Given the description of an element on the screen output the (x, y) to click on. 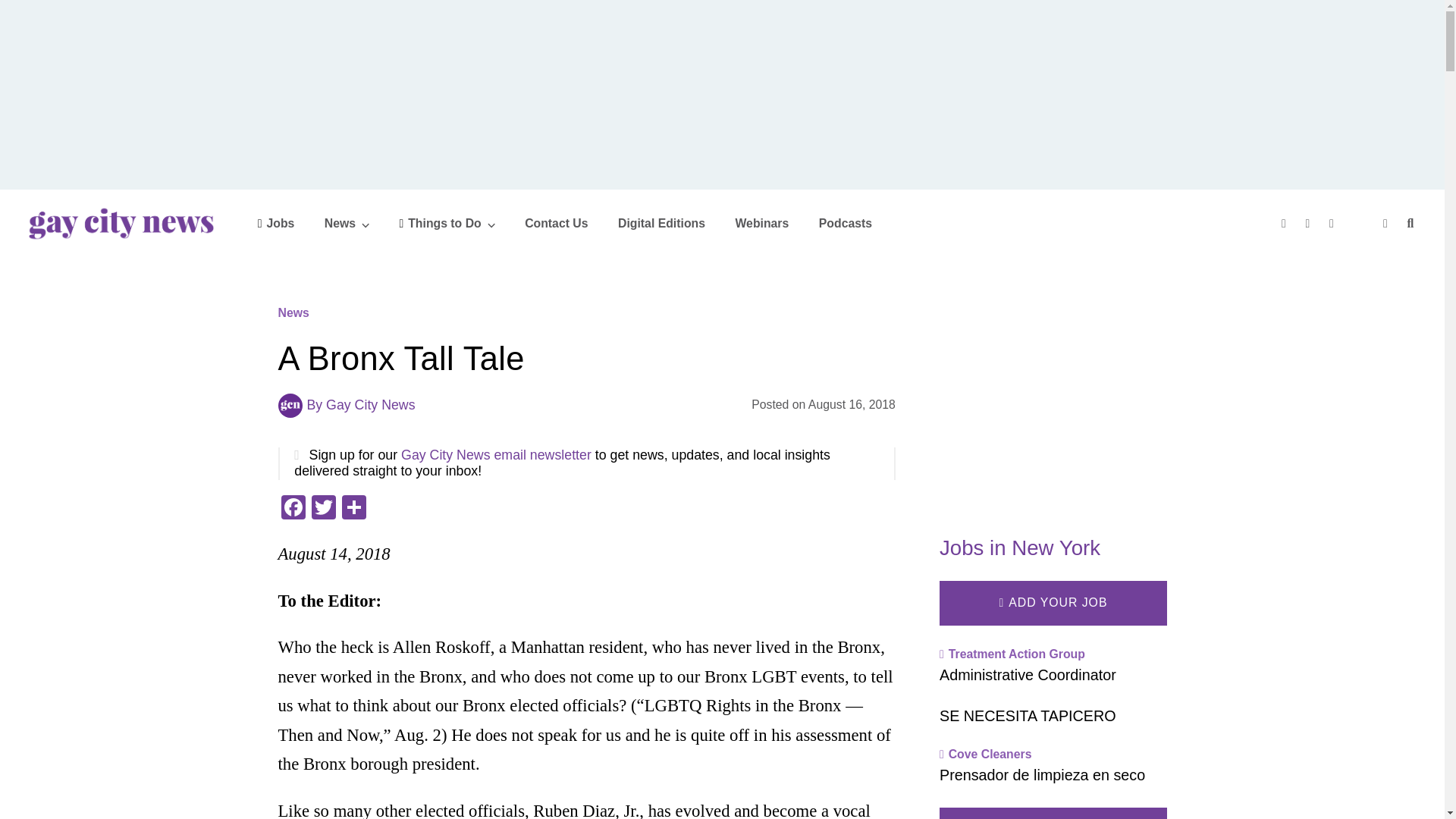
Facebook (292, 509)
Twitter (322, 509)
Webinars (762, 223)
Jobs (276, 223)
News (346, 223)
Things to Do (446, 223)
Podcasts (845, 223)
Contact Us (556, 223)
Posts by Gay City News (370, 404)
Digital Editions (660, 223)
